Given the description of an element on the screen output the (x, y) to click on. 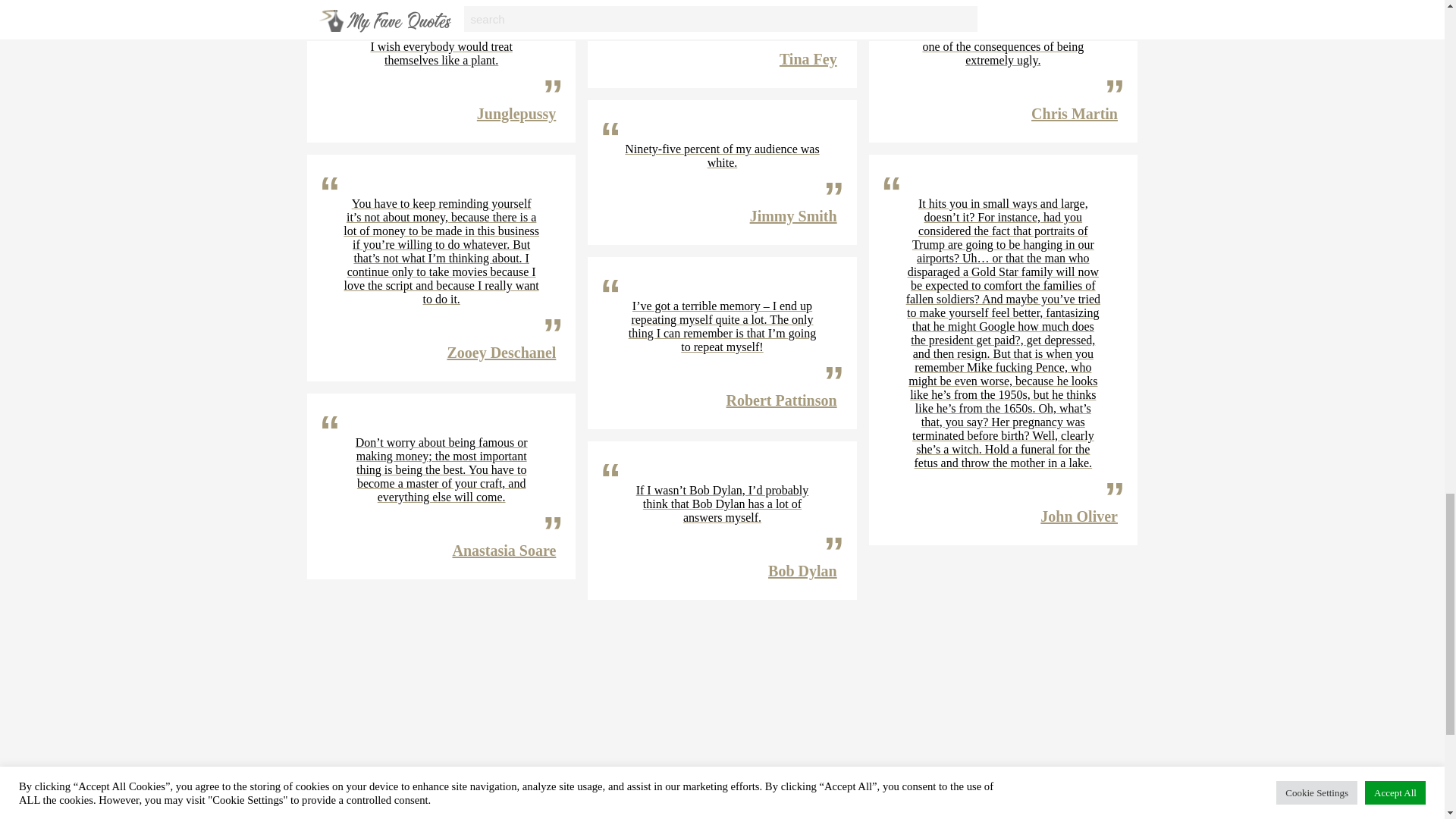
I wish everybody would treat themselves like a plant. (440, 53)
Junglepussy (516, 113)
Zooey Deschanel (501, 352)
